Given the description of an element on the screen output the (x, y) to click on. 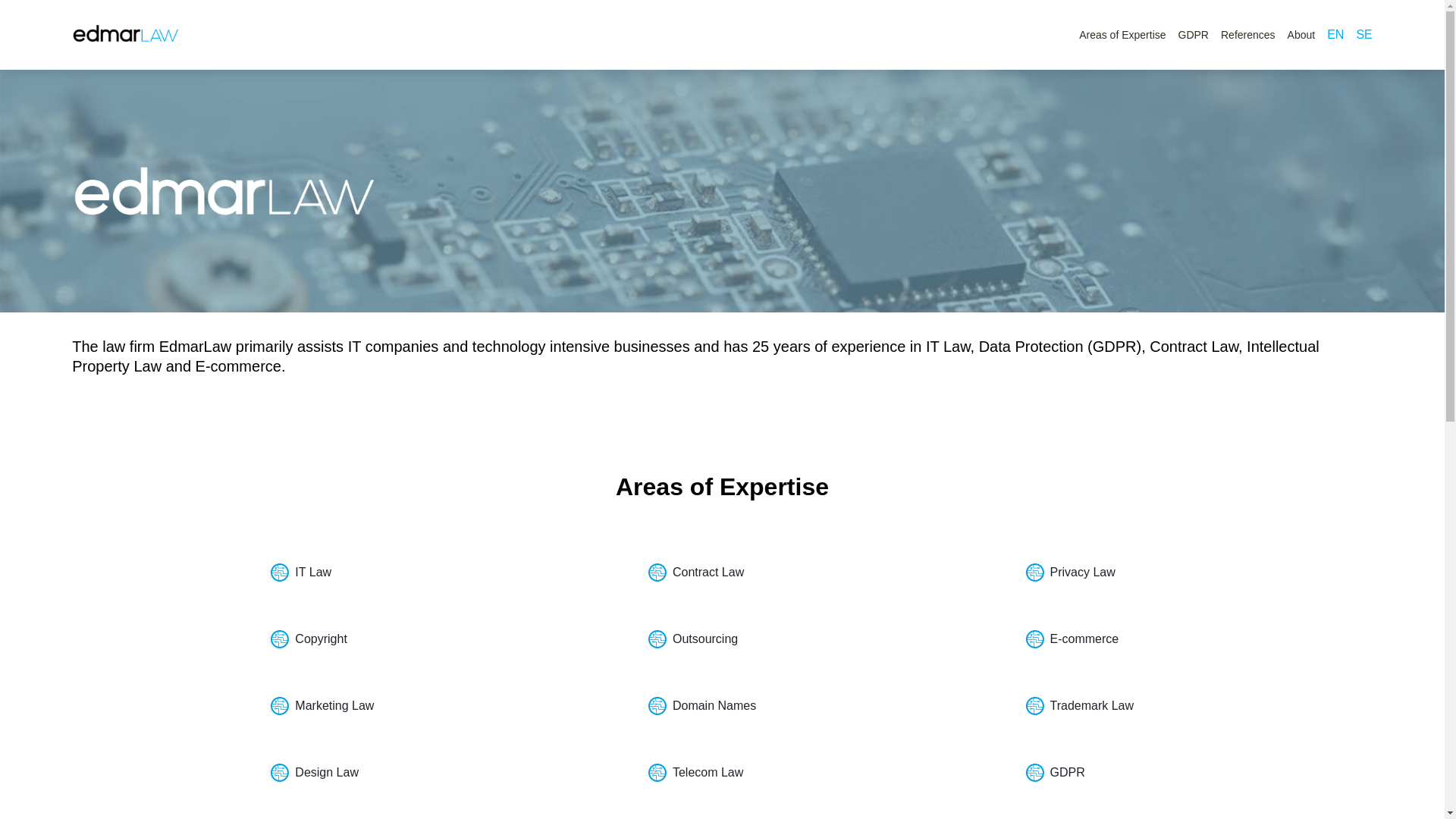
E-commerce (1099, 638)
Areas of Expertise (1122, 34)
Outsourcing (721, 638)
Copyright (344, 638)
Trademark Law (1099, 705)
Telecom Law (721, 772)
Design Law (344, 772)
Contract Law (721, 572)
References (1248, 34)
EN (1334, 34)
